Given the description of an element on the screen output the (x, y) to click on. 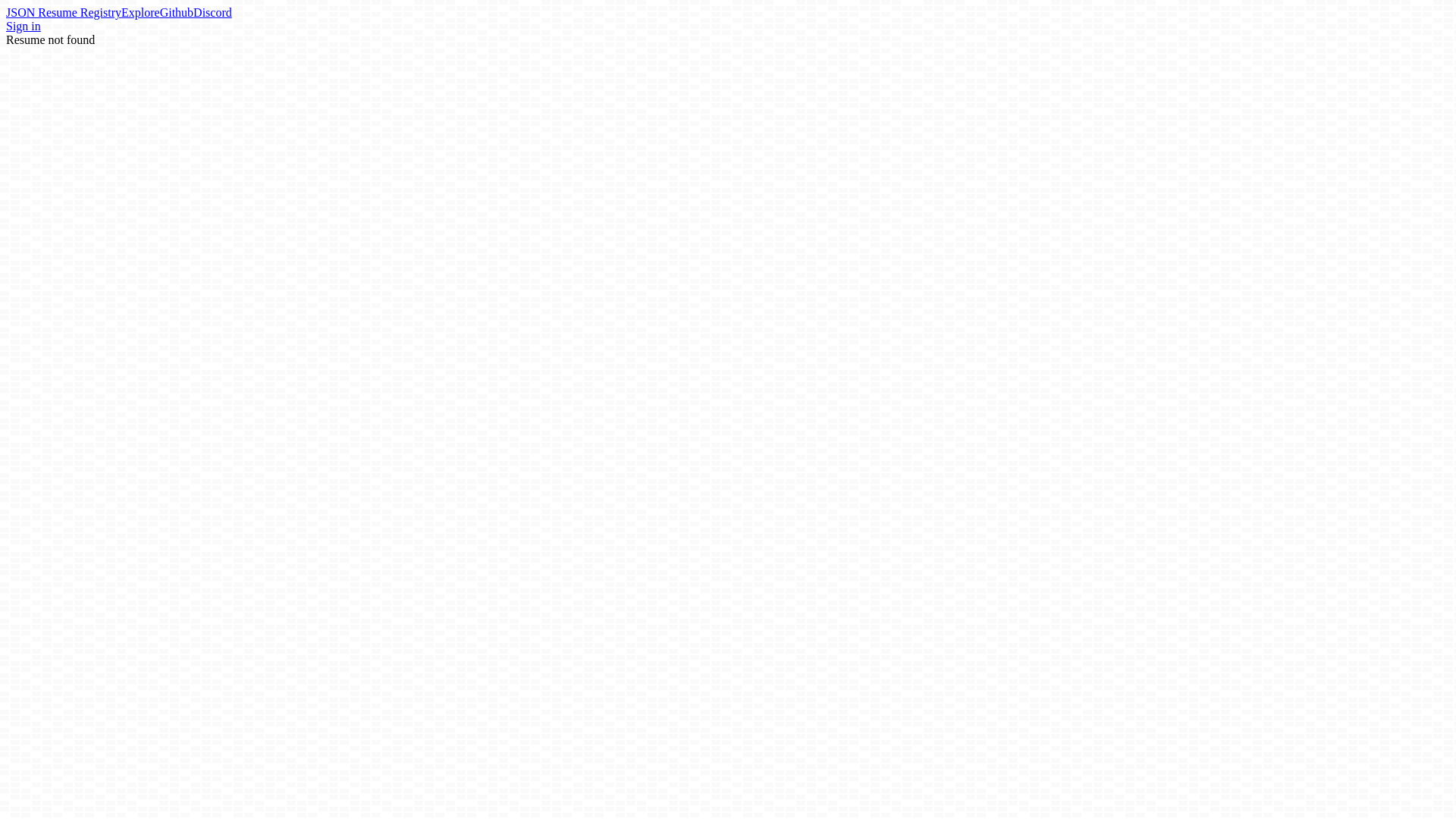
Sign in (22, 25)
Discord (212, 11)
JSON Resume Registry (62, 11)
Explore (140, 11)
Github (176, 11)
